Given the description of an element on the screen output the (x, y) to click on. 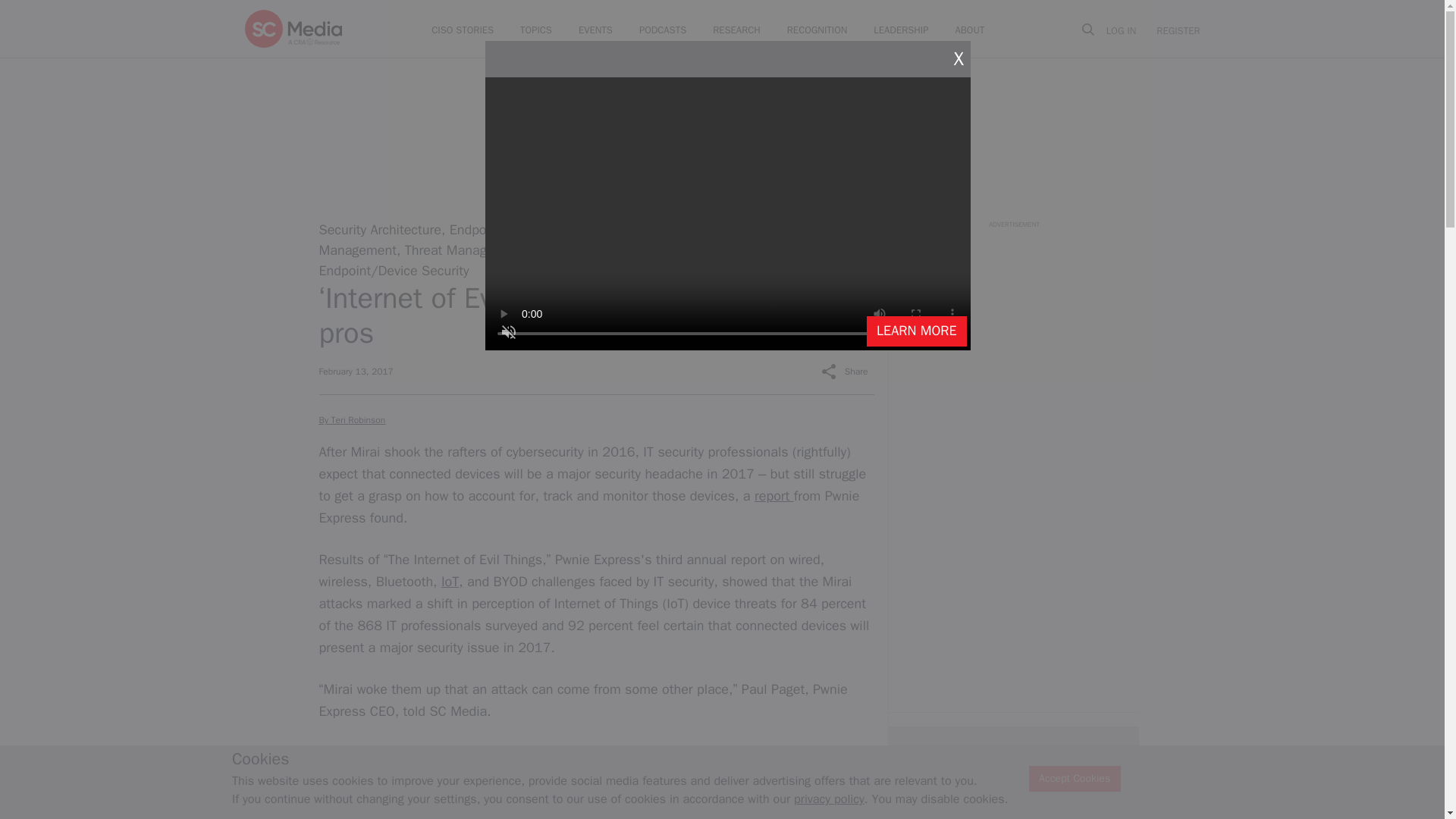
EVENTS (595, 30)
PODCASTS (662, 30)
LEADERSHIP (900, 30)
SC Media (292, 27)
report  (773, 495)
By Teri Robinson (351, 419)
REGISTER (1173, 30)
Threat Management (573, 239)
RESEARCH (736, 30)
Threat Management (464, 249)
Security Architecture (379, 229)
IoT, (452, 581)
CISO STORIES (461, 30)
3rd party ad content (1012, 325)
IoT (617, 229)
